Given the description of an element on the screen output the (x, y) to click on. 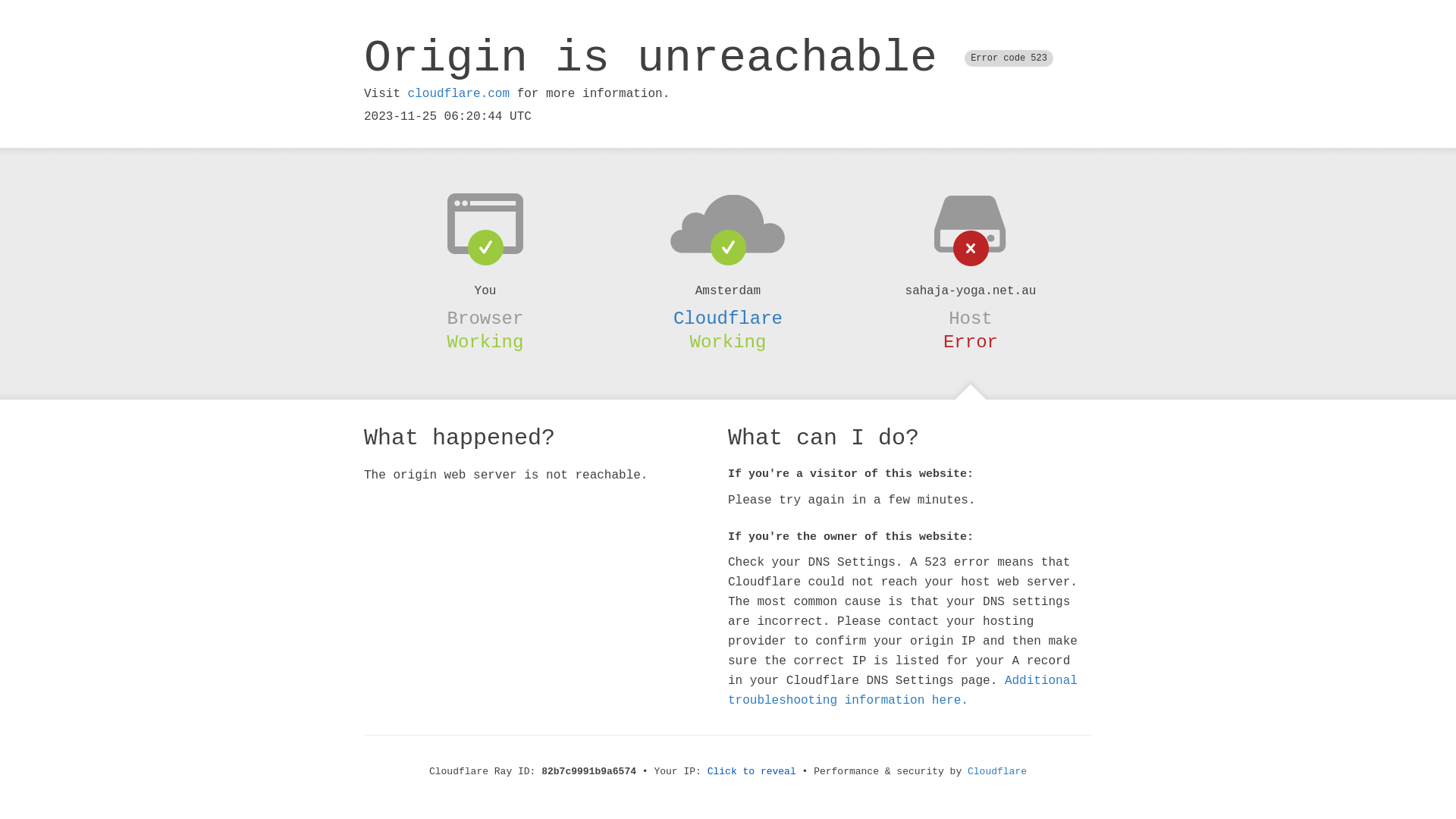
Click to reveal Element type: text (751, 771)
cloudflare.com Element type: text (458, 93)
Additional troubleshooting information here. Element type: text (902, 690)
Cloudflare Element type: text (996, 771)
Cloudflare Element type: text (727, 318)
